Given the description of an element on the screen output the (x, y) to click on. 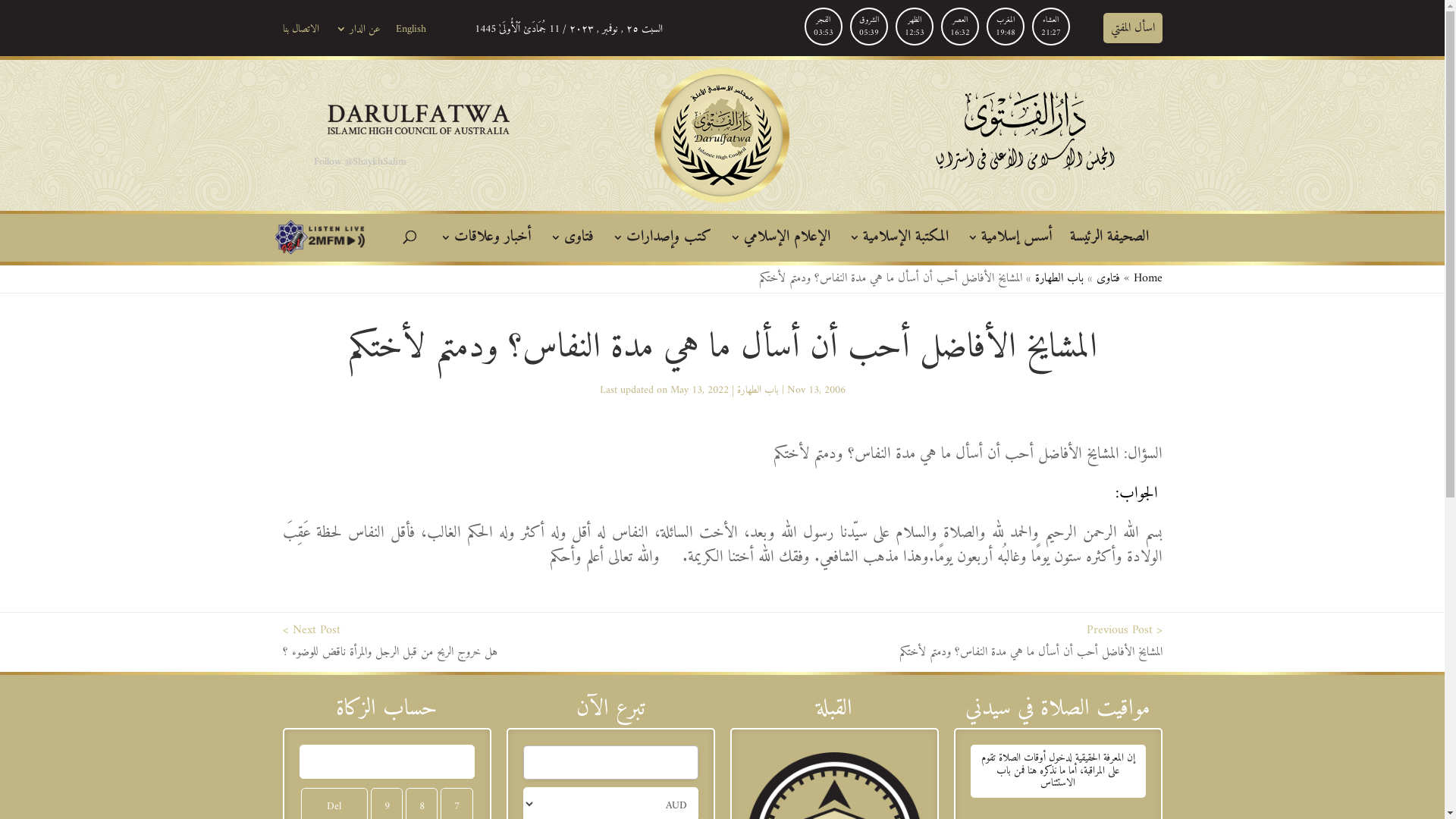
English Element type: text (410, 32)
Next Post > Element type: text (310, 629)
< Previous Post Element type: text (1123, 629)
Home Element type: text (1146, 277)
Follow @ShaykhSalim Element type: text (359, 161)
